Given the description of an element on the screen output the (x, y) to click on. 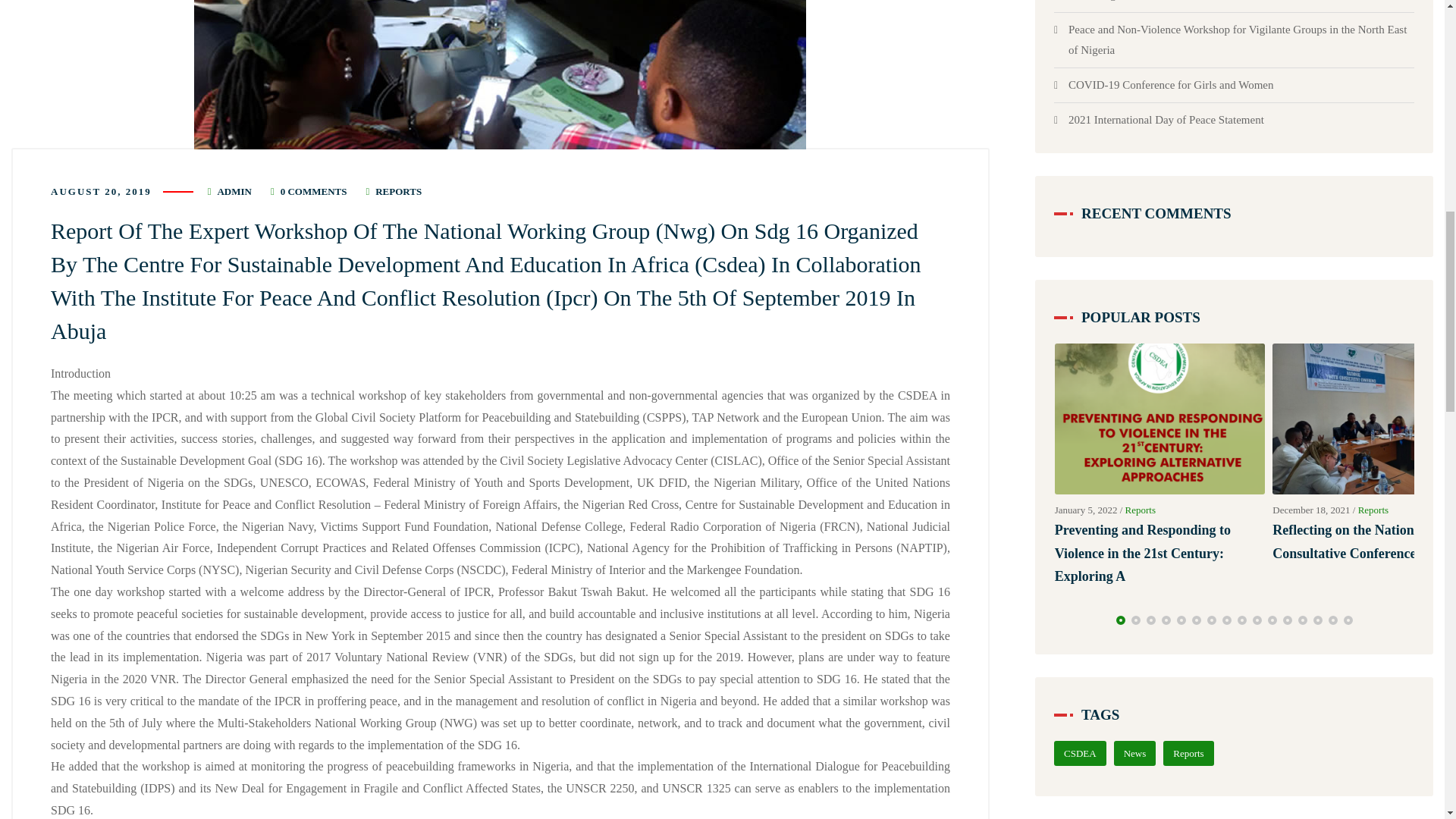
ADMIN (233, 191)
0 COMMENTS (314, 191)
View all posts in Reports (398, 191)
